Given the description of an element on the screen output the (x, y) to click on. 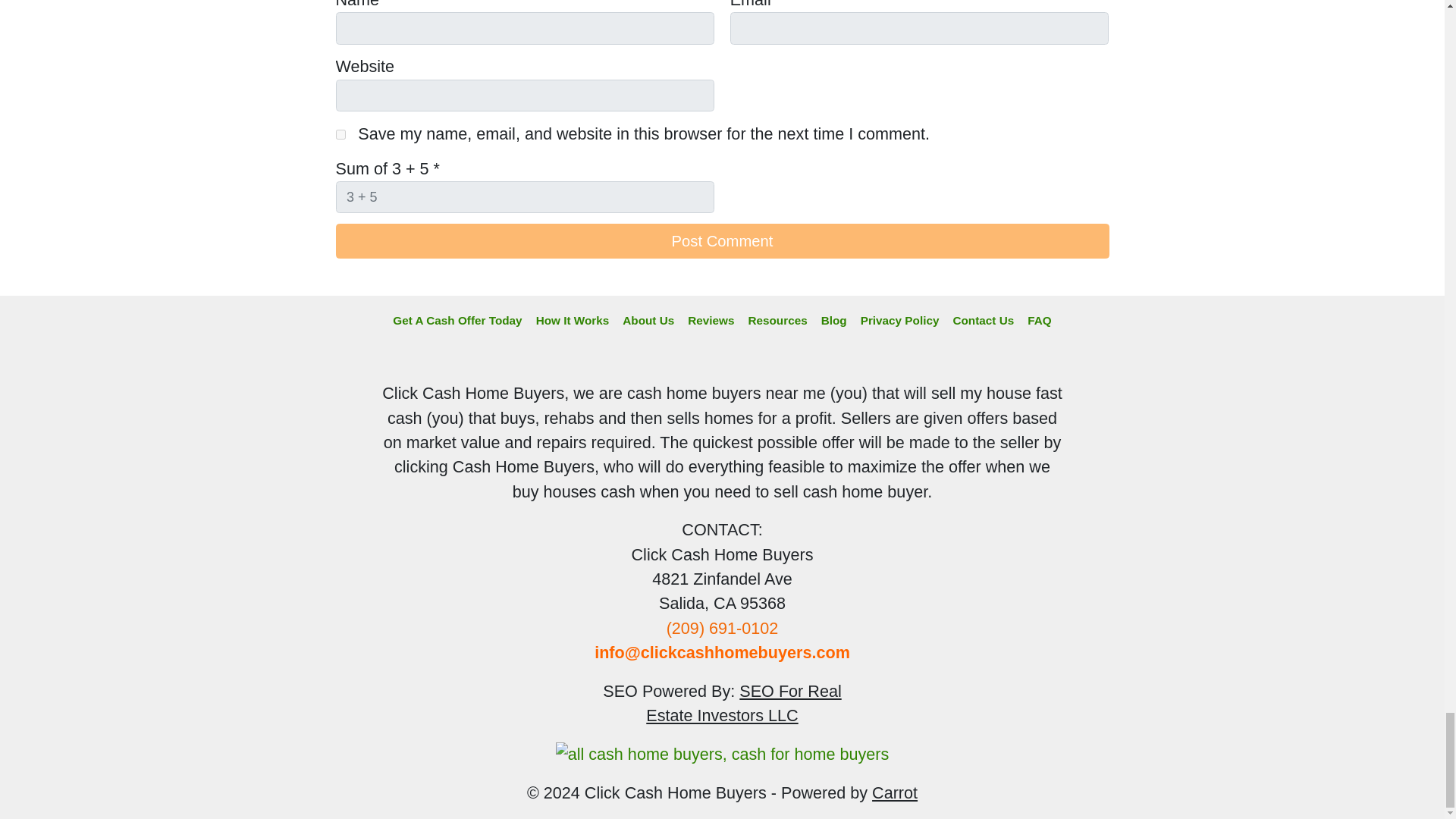
Get A Cash Offer Today (456, 320)
yes (339, 134)
Post Comment (721, 240)
